Given the description of an element on the screen output the (x, y) to click on. 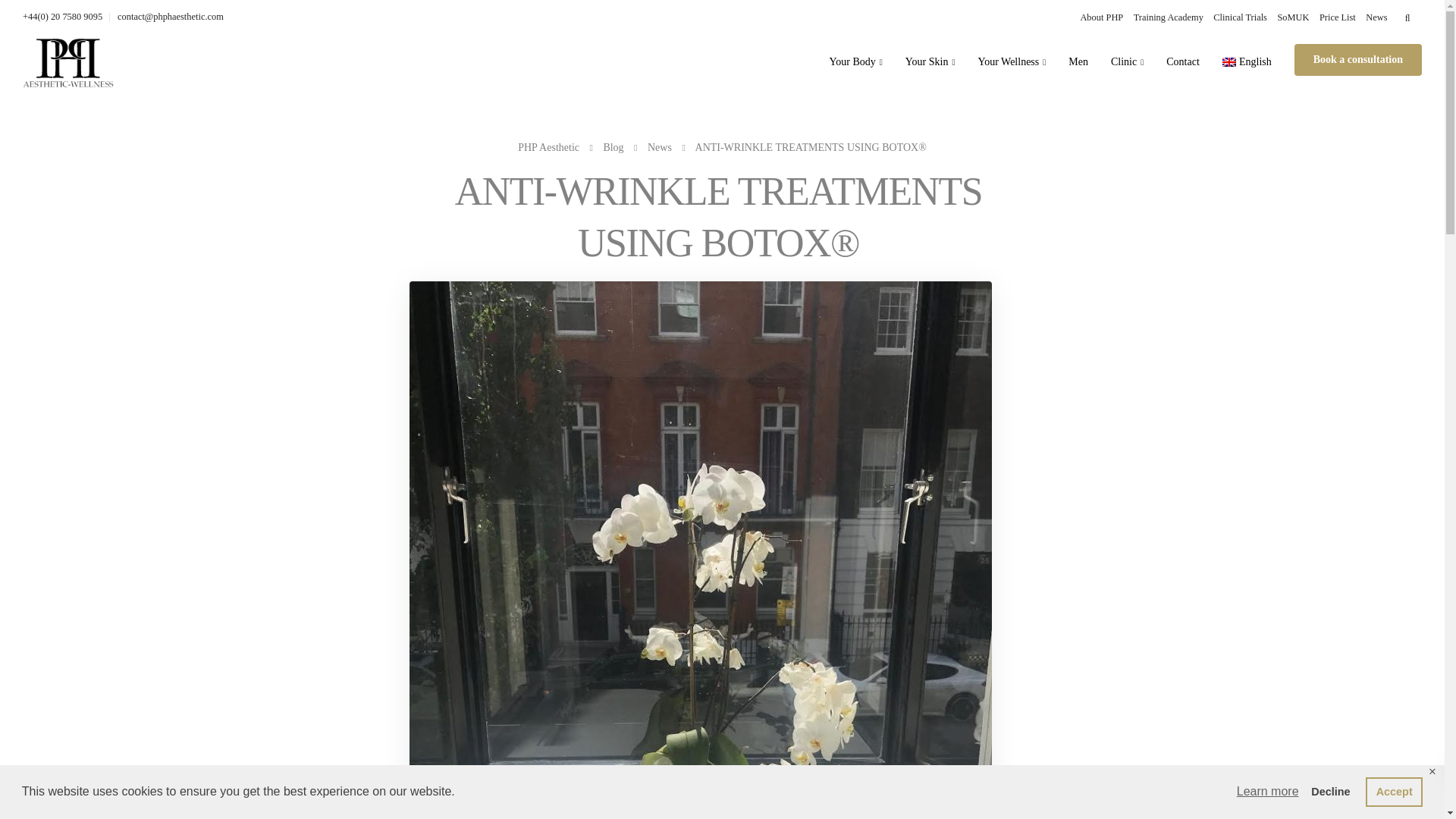
Your Skin (929, 61)
About PHP (1101, 17)
Price List (1337, 17)
Accept (1393, 791)
News (1376, 17)
Clinical Trials (1239, 17)
Your Skin (929, 61)
Your Body (855, 61)
SoMUK (1292, 17)
Decline (1330, 791)
Learn more (1267, 791)
Training Academy (1169, 17)
Your Body (855, 61)
